Given the description of an element on the screen output the (x, y) to click on. 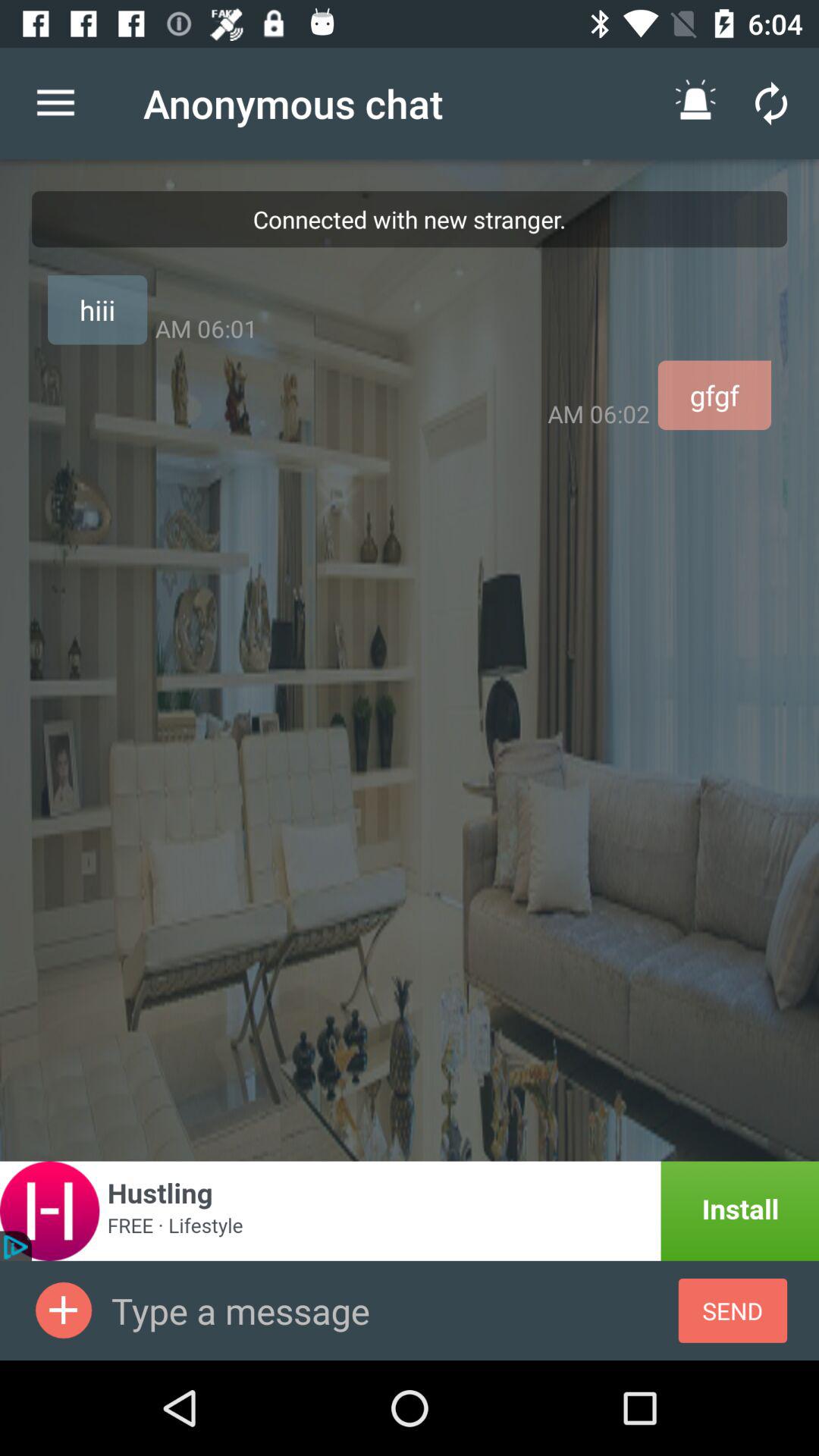
install app (409, 1210)
